Given the description of an element on the screen output the (x, y) to click on. 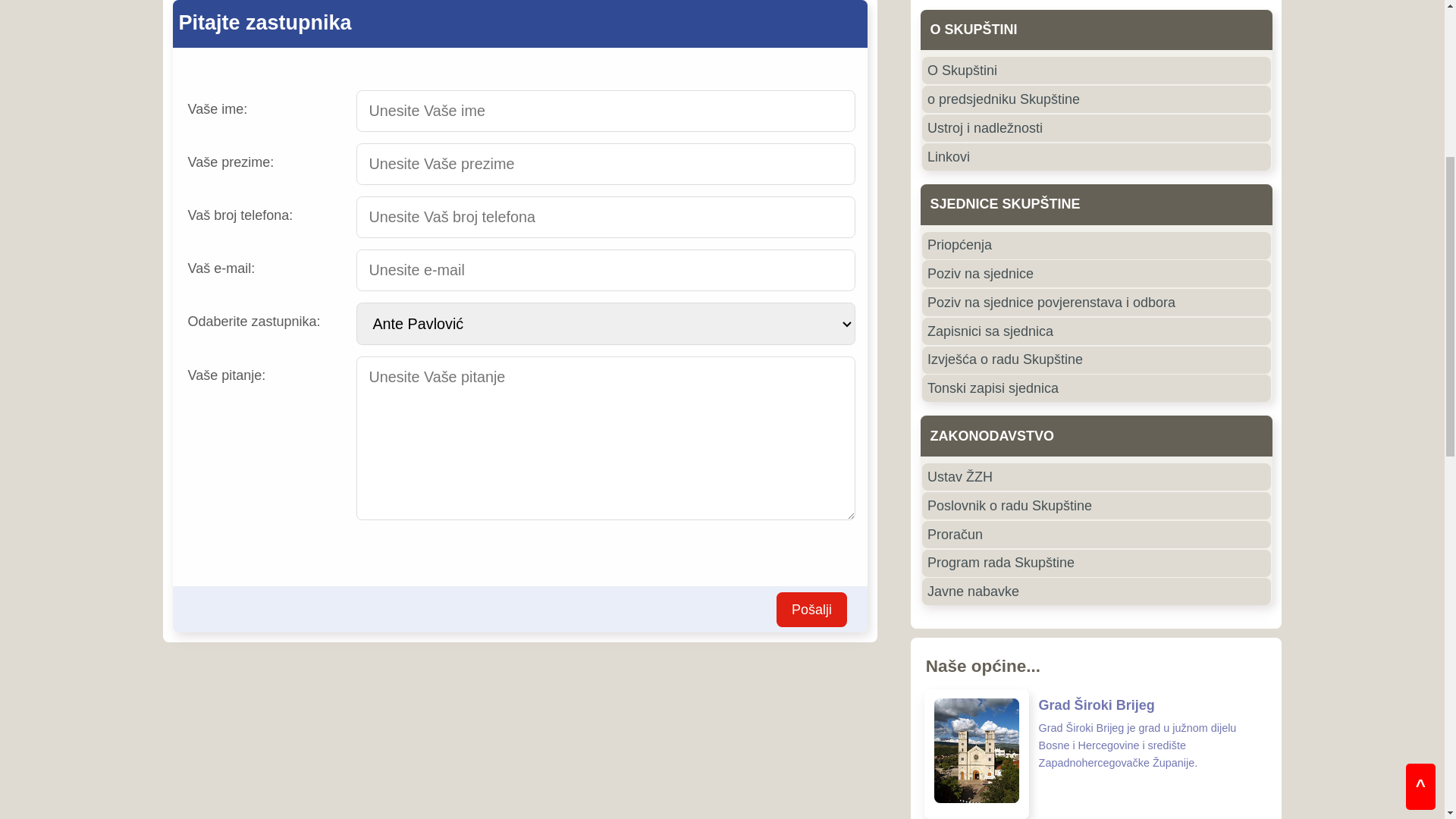
Tonski zapisi sjednica Element type: text (876, 710)
Povjerenstva i odbori Element type: text (476, 229)
Kontakt Element type: text (819, 229)
Novosti Element type: text (291, 229)
Poziv na sjednice povjerenstava i odbora Element type: text (876, 641)
Linkovi Element type: text (876, 524)
Zapisnici sa sjednica Element type: text (876, 663)
Pitajte zastupnika? Element type: text (278, 323)
Poziv na sjednice Element type: text (876, 618)
